Given the description of an element on the screen output the (x, y) to click on. 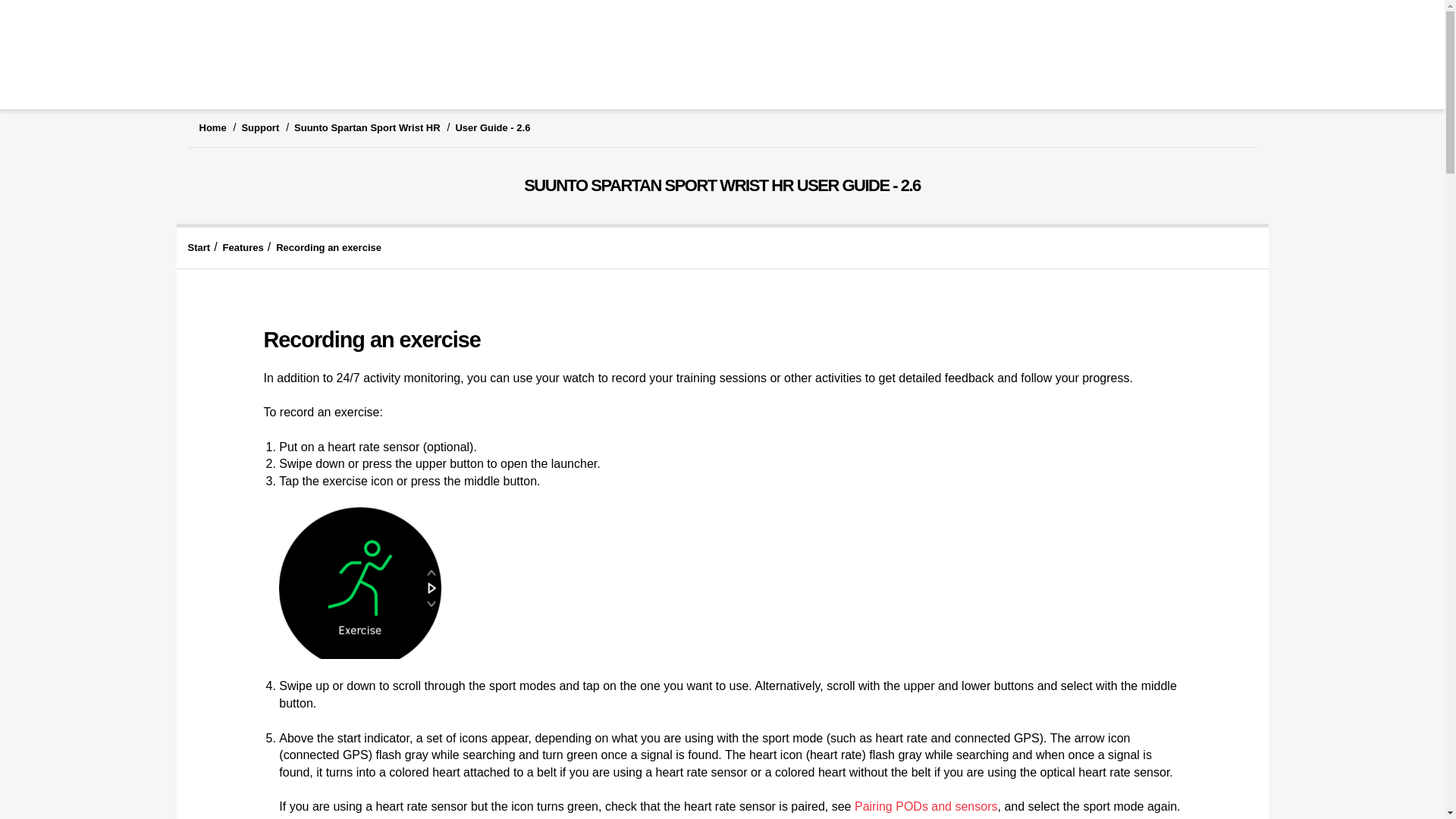
Pairing PODs and sensors (925, 806)
Home (211, 127)
Start (199, 247)
Support (260, 127)
Features (242, 247)
Suunto Spartan Sport Wrist HR (367, 127)
User Guide - 2.6 (491, 127)
Recording an exercise (328, 247)
